Given the description of an element on the screen output the (x, y) to click on. 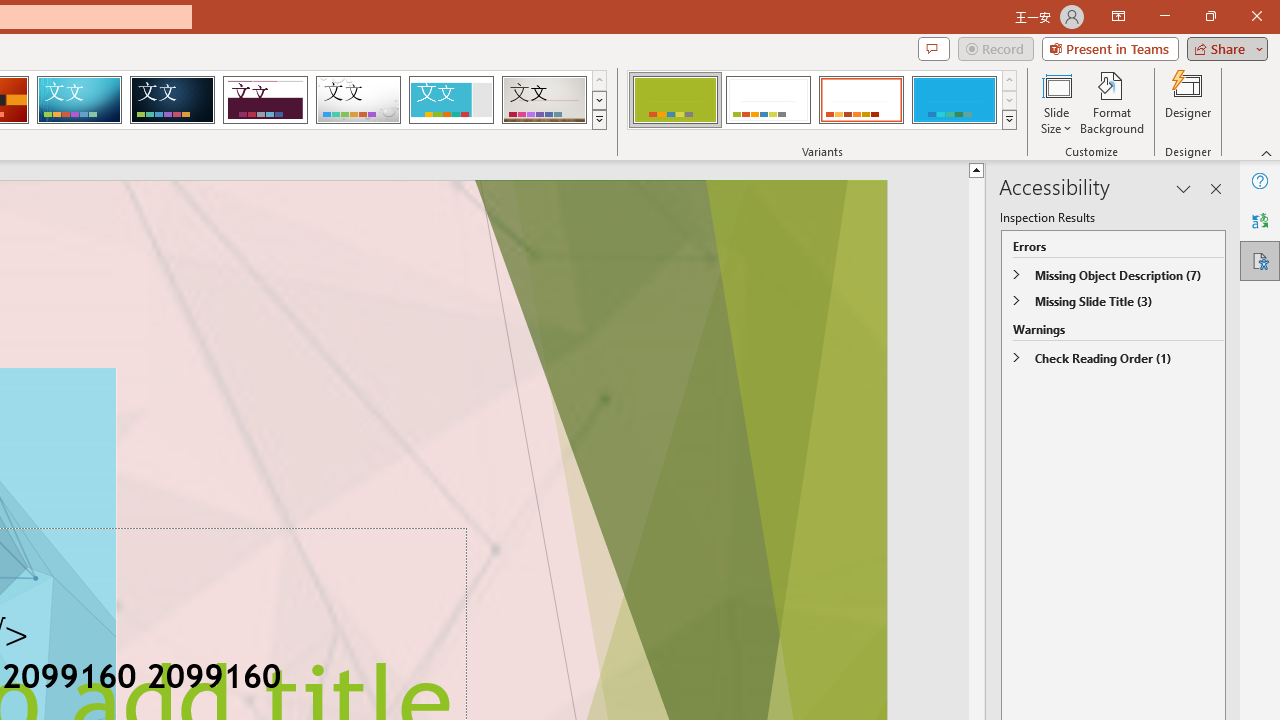
Basis Variant 2 (768, 100)
AutomationID: ThemeVariantsGallery (822, 99)
Basis Variant 1 (674, 100)
Themes (598, 120)
Circuit (79, 100)
Droplet (358, 100)
Damask (171, 100)
Basis Variant 4 (953, 100)
